Given the description of an element on the screen output the (x, y) to click on. 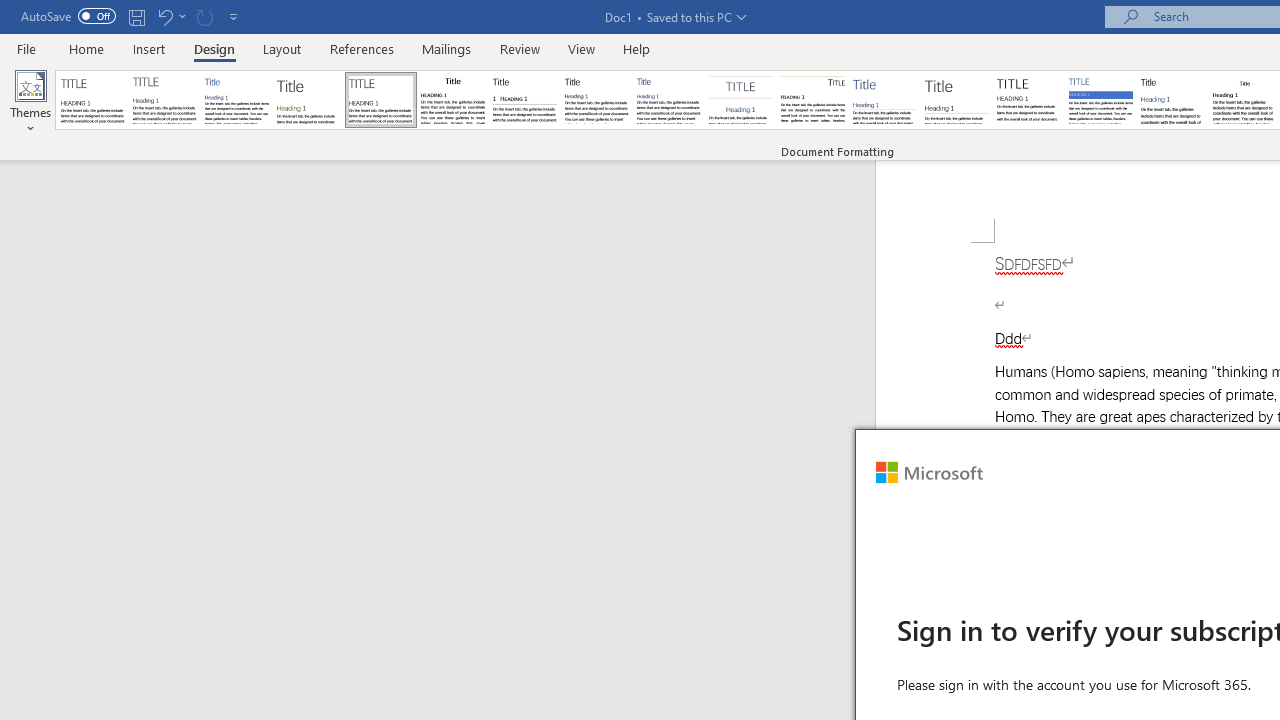
Black & White (Numbered) (524, 100)
Can't Repeat (204, 15)
Black & White (Classic) (452, 100)
Themes (30, 102)
Lines (Simple) (884, 100)
Centered (740, 100)
Word (1172, 100)
Undo Apply Quick Style Set (164, 15)
Casual (669, 100)
Black & White (Capitalized) (381, 100)
